Given the description of an element on the screen output the (x, y) to click on. 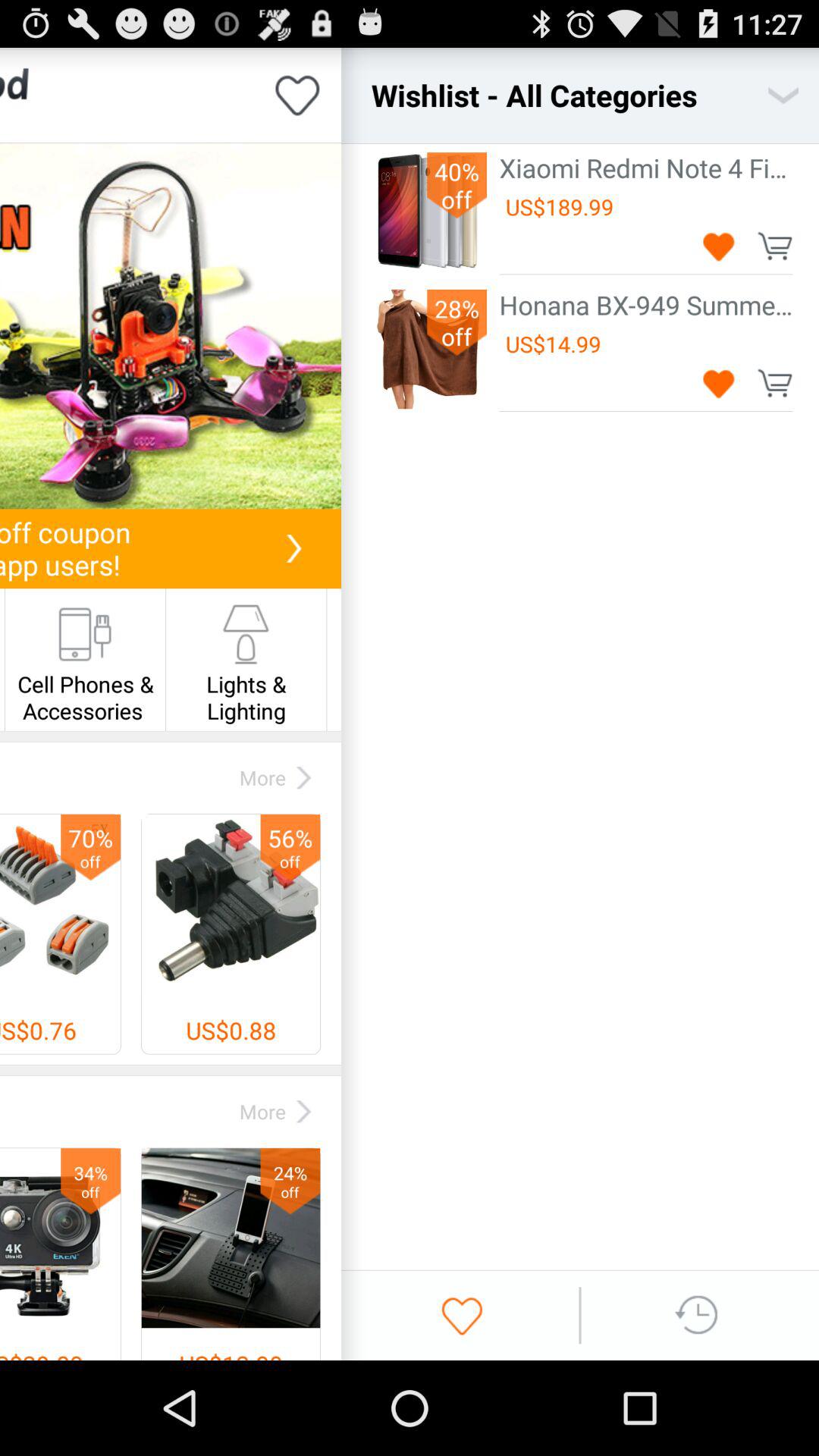
look at history (697, 1315)
